Given the description of an element on the screen output the (x, y) to click on. 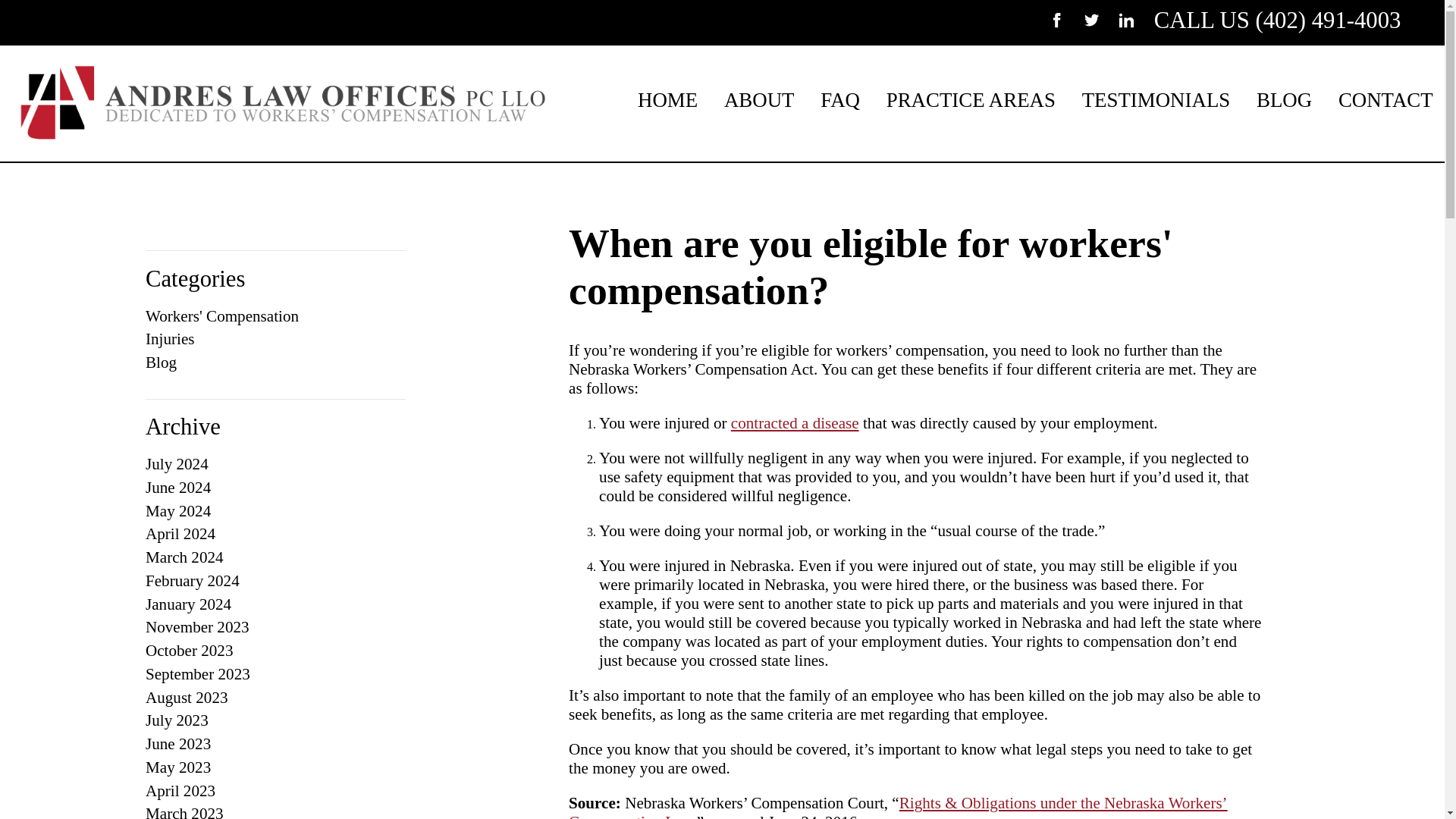
FAQ (840, 99)
ABOUT (759, 99)
HOME (668, 99)
PRACTICE AREAS (971, 99)
